Given the description of an element on the screen output the (x, y) to click on. 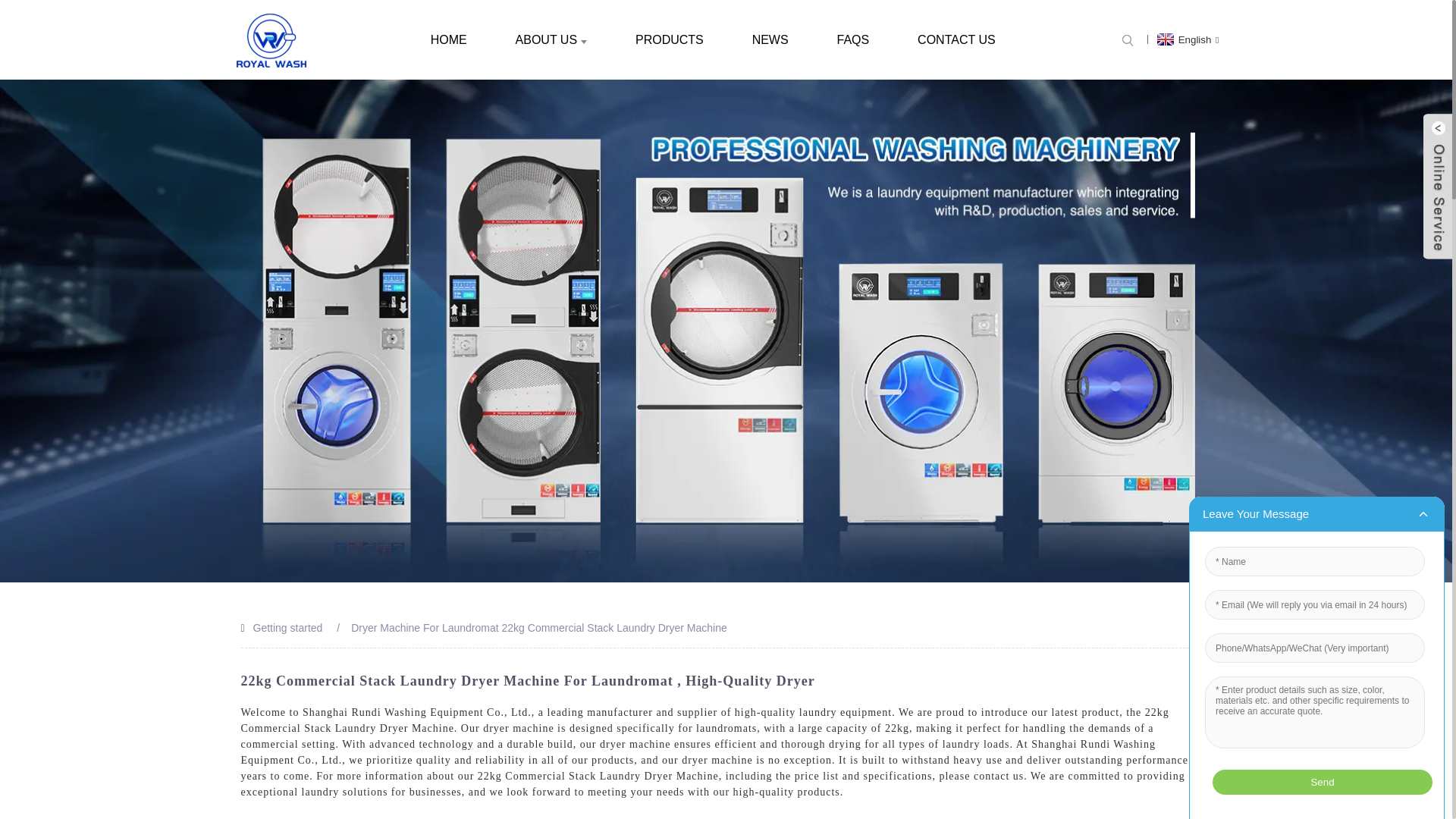
CONTACT US (956, 39)
ABOUT US (551, 39)
FAQS (853, 39)
English (1186, 39)
Getting started (288, 627)
PRODUCTS (669, 39)
NEWS (769, 39)
HOME (447, 39)
